Given the description of an element on the screen output the (x, y) to click on. 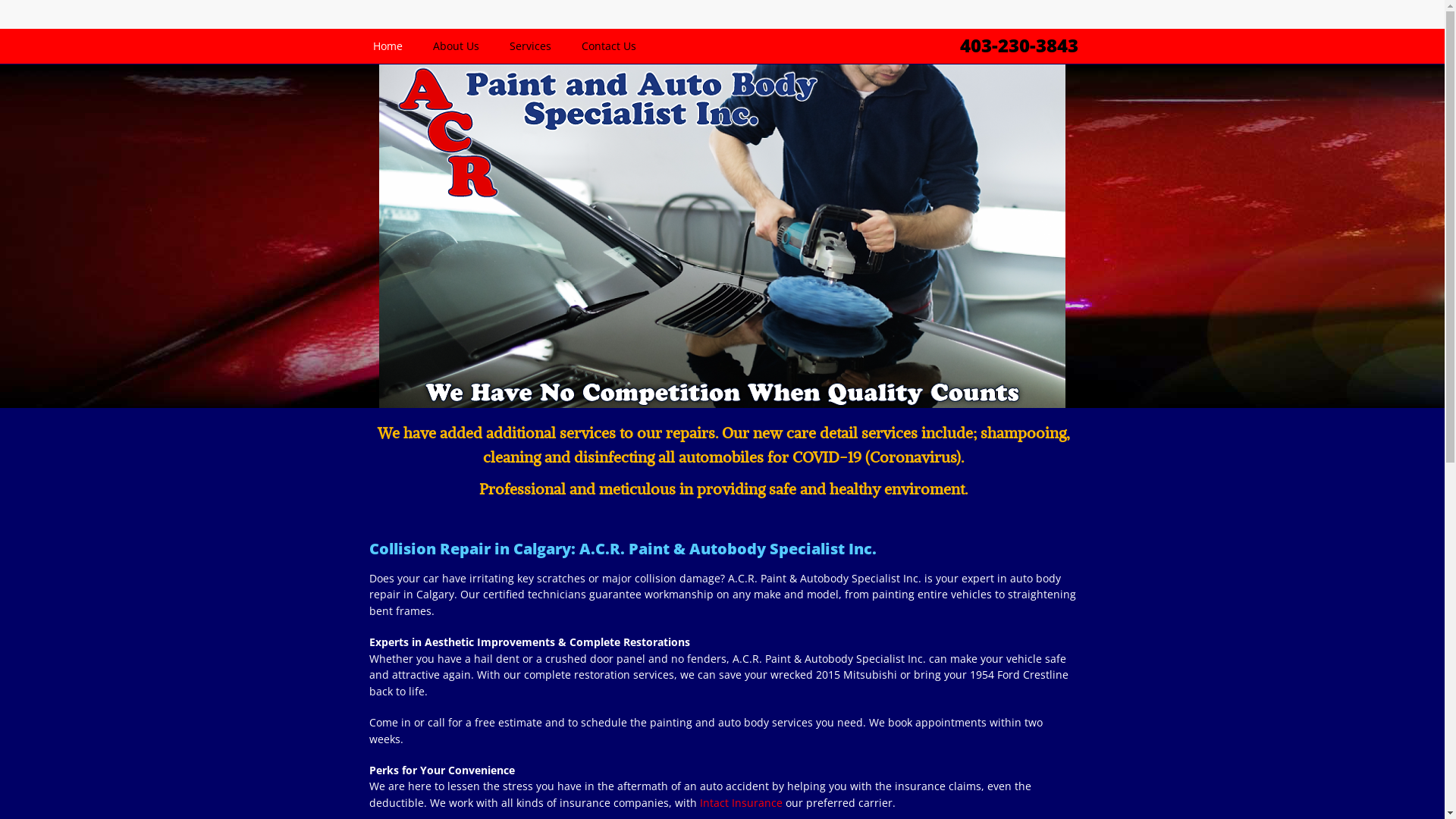
Embedded Content Element type: hover (1071, 19)
Contact Us Element type: text (607, 46)
About Us Element type: text (455, 46)
Services Element type: text (530, 46)
Embedded Content Element type: hover (993, 18)
Home Element type: text (387, 46)
403-230-3843 Element type: text (1019, 44)
Intact Insurance Element type: text (740, 802)
